Given the description of an element on the screen output the (x, y) to click on. 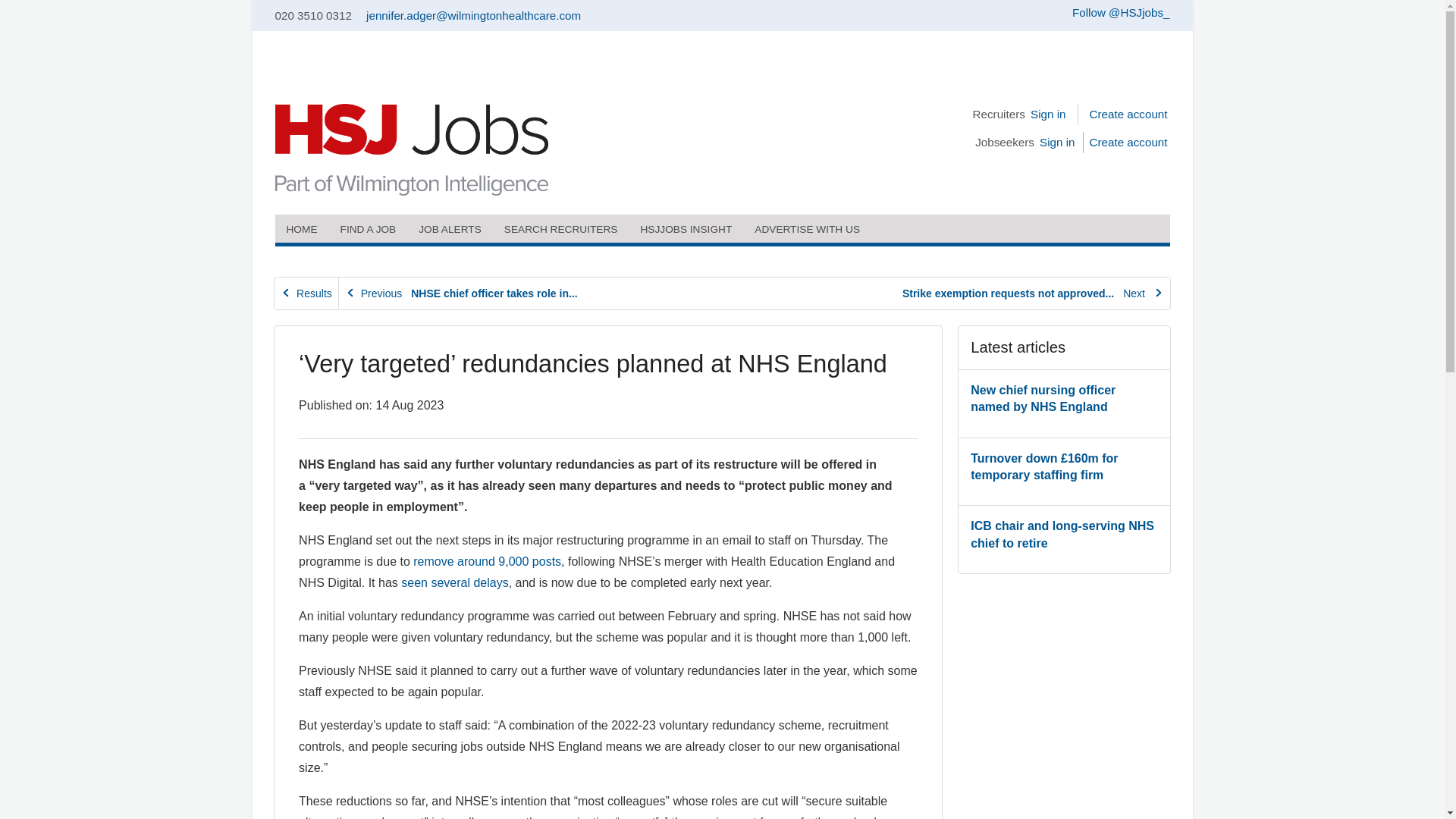
ICB chair and long-serving NHS chief to retire (1062, 533)
FIND A JOB (368, 227)
Sign in (1059, 141)
New chief nursing officer named by NHS England (1043, 398)
ADVERTISE WITH US (806, 227)
HOME (302, 227)
JOB ALERTS (450, 227)
HSJ Jobs (411, 149)
HSJJOBS INSIGHT (685, 227)
Create account (1128, 141)
Strike exemption requests not approved...Next (1033, 293)
remove around 9,000 posts (486, 561)
SEARCH RECRUITERS (560, 227)
Sign in (1047, 114)
Create account (1128, 114)
